Given the description of an element on the screen output the (x, y) to click on. 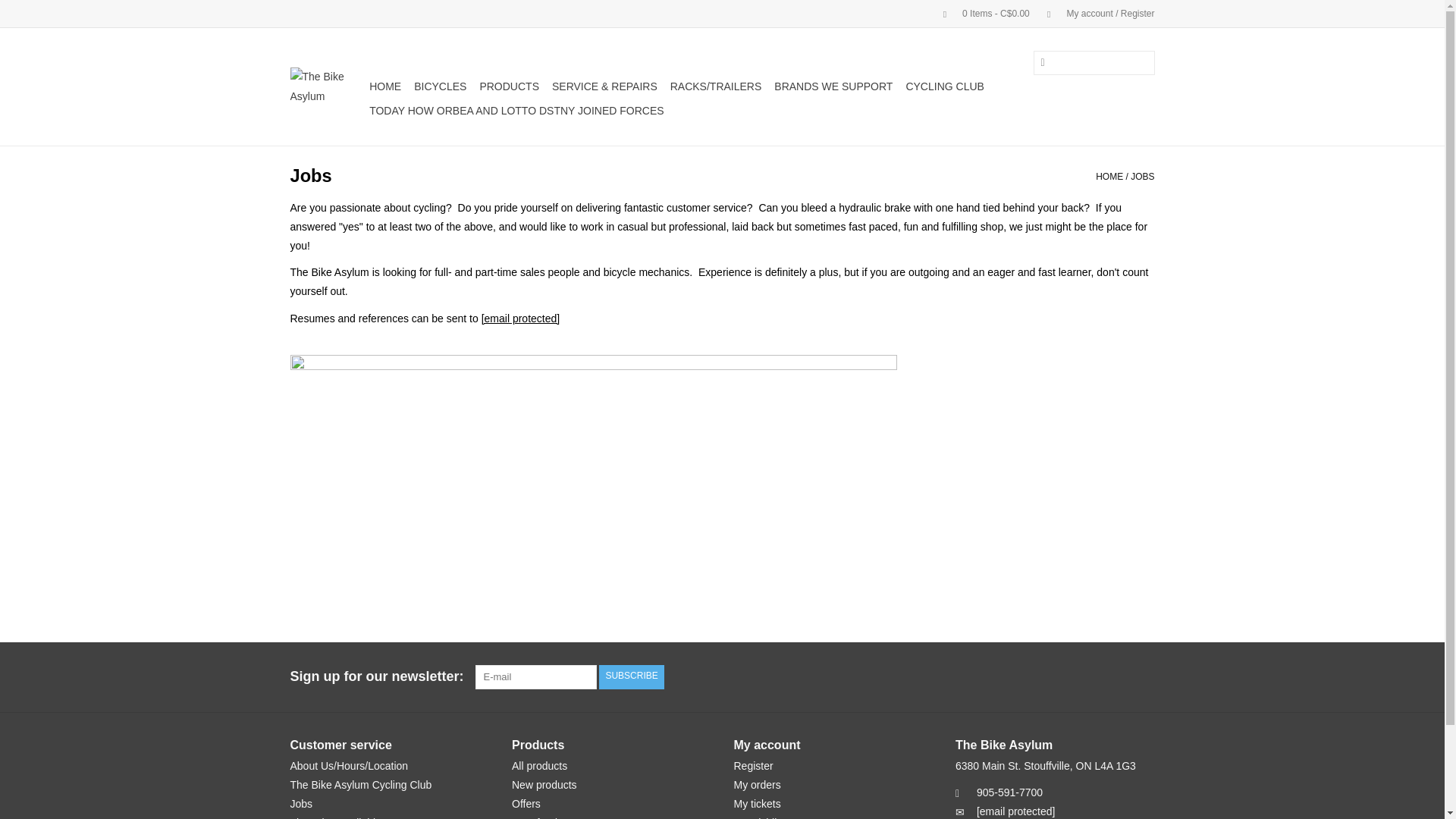
HOME (385, 86)
PRODUCTS (508, 86)
Cart (980, 13)
BICYCLES (439, 86)
Bicycles (439, 86)
My account (1093, 13)
The Bike Asylum (327, 86)
